Given the description of an element on the screen output the (x, y) to click on. 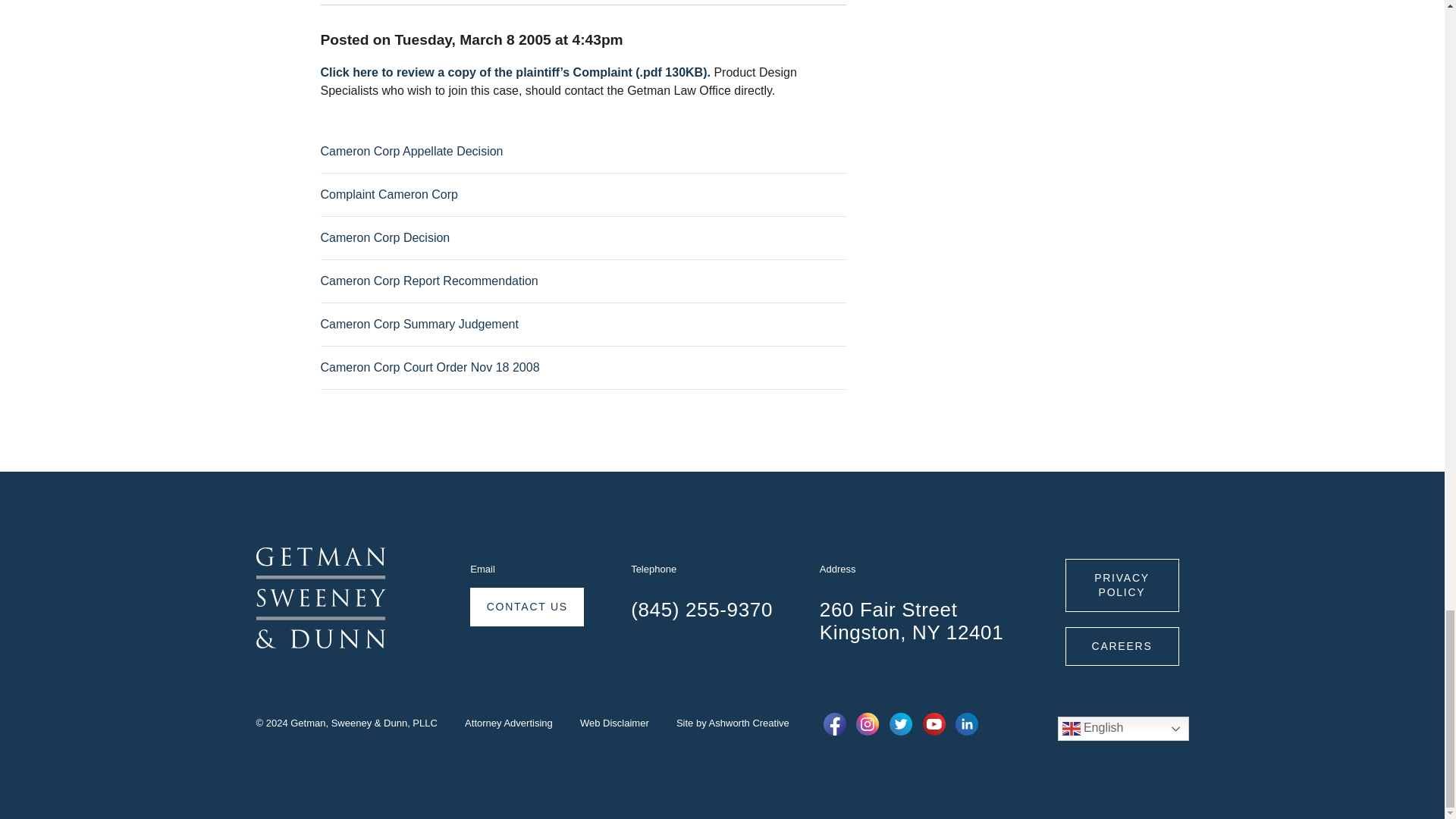
Cameron Corp Appellate Decision (411, 151)
Complaint Cameron Corp (388, 194)
